Given the description of an element on the screen output the (x, y) to click on. 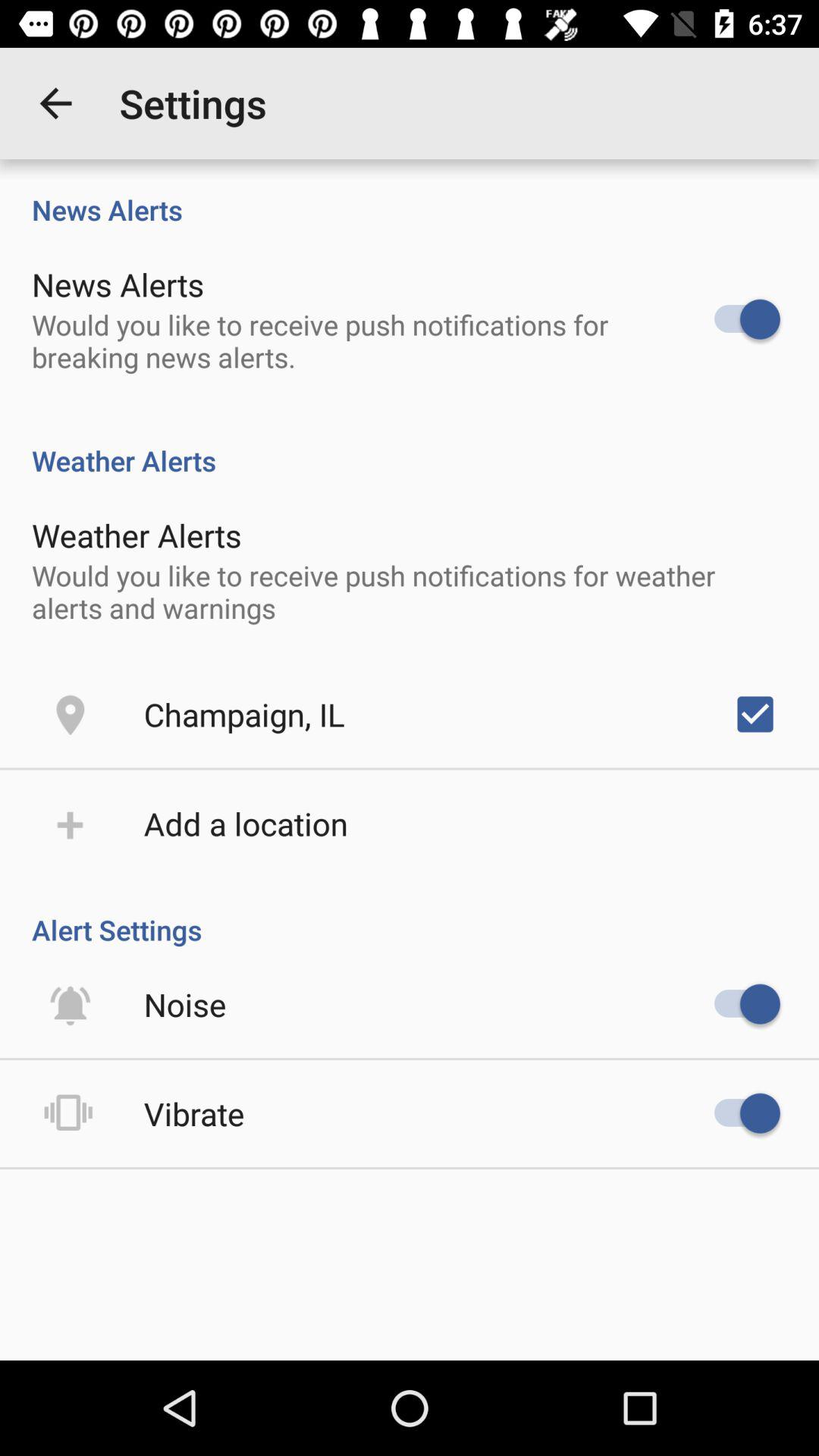
open the champaign, il (243, 713)
